Given the description of an element on the screen output the (x, y) to click on. 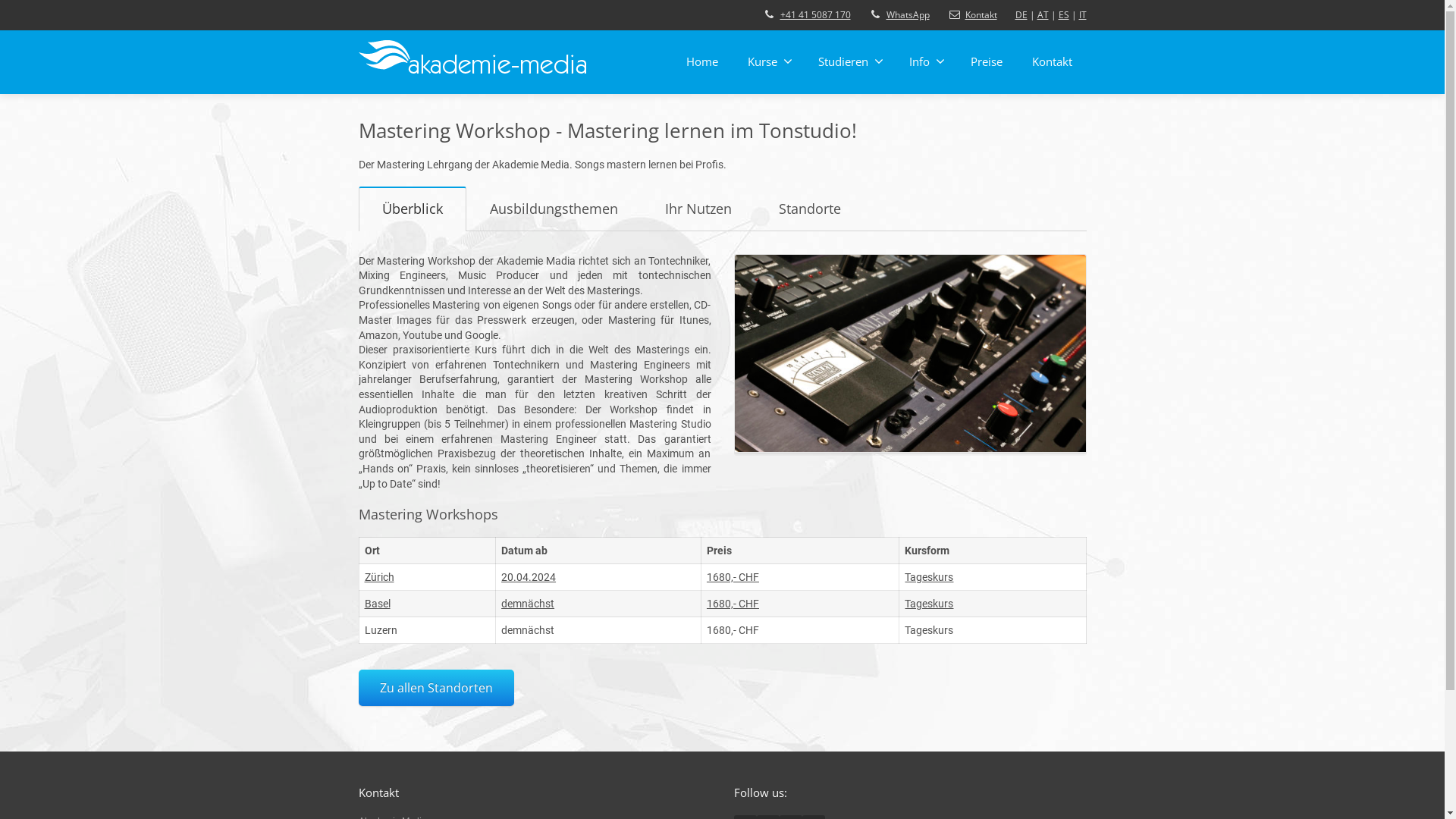
Studieren Element type: text (848, 61)
Basel Element type: text (376, 603)
Kontakt Element type: text (980, 14)
Tageskurs Element type: text (928, 577)
Preise Element type: text (985, 61)
Ausbildungsthemen Element type: text (552, 237)
Zu allen Standorten Element type: text (435, 687)
Kontakt Element type: text (1051, 61)
Kurse Element type: text (767, 61)
DE Element type: text (1020, 14)
IT Element type: text (1081, 14)
AT Element type: text (1042, 14)
1680,- CHF Element type: text (732, 577)
ES Element type: text (1063, 14)
Tageskurs Element type: text (928, 603)
Home Element type: text (701, 61)
Standorte Element type: text (809, 237)
WhatsApp Element type: text (906, 14)
Info Element type: text (924, 61)
Ihr Nutzen Element type: text (698, 237)
+41 41 5087 170 Element type: text (814, 14)
20.04.2024 Element type: text (528, 577)
1680,- CHF Element type: text (732, 603)
